Given the description of an element on the screen output the (x, y) to click on. 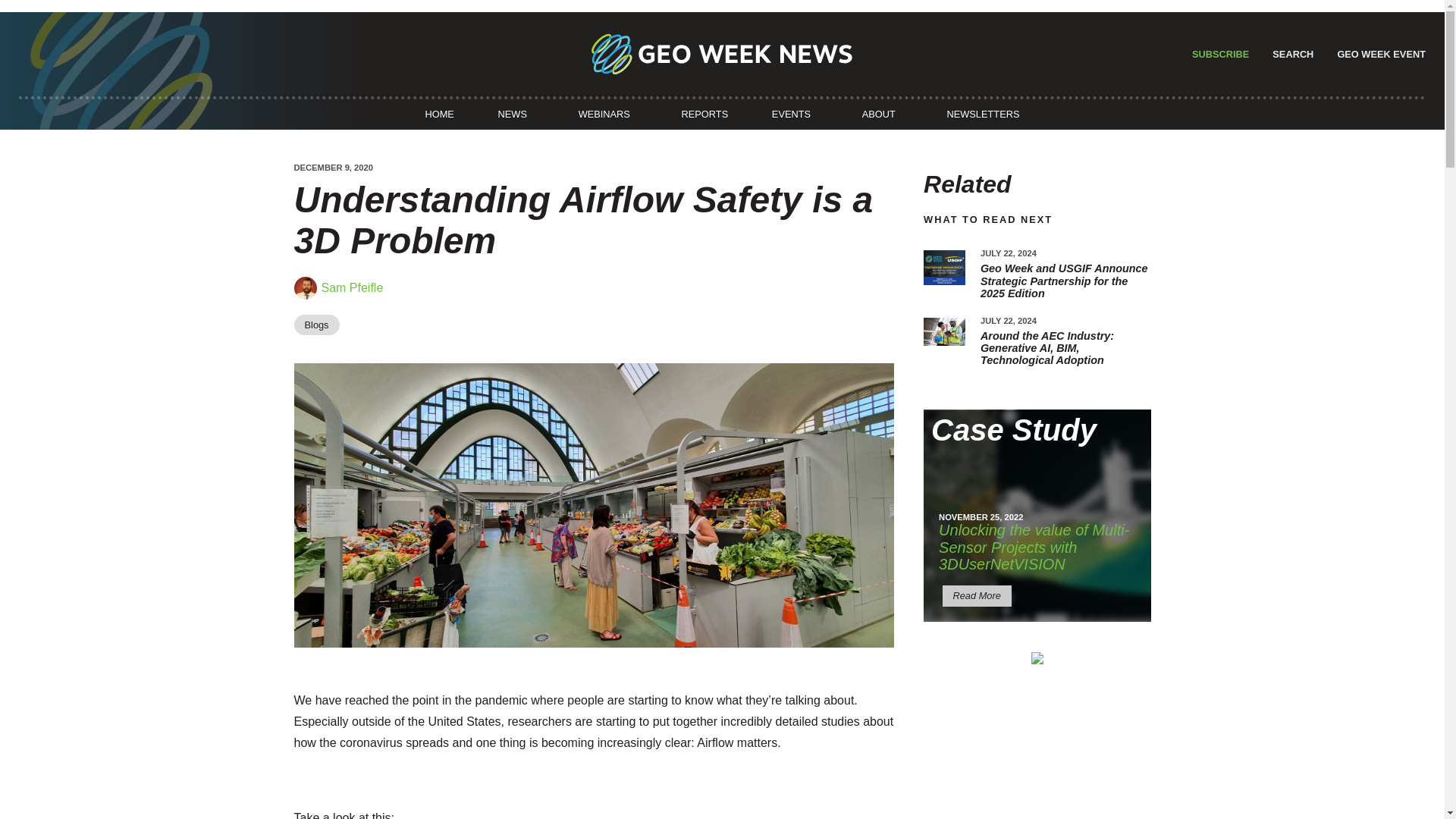
Geo Week News (721, 53)
Geo Week (1378, 53)
SEARCH (1290, 53)
HOME (439, 114)
Subscribe (1218, 53)
GEO WEEK EVENT (1378, 53)
NEWS (512, 114)
